Given the description of an element on the screen output the (x, y) to click on. 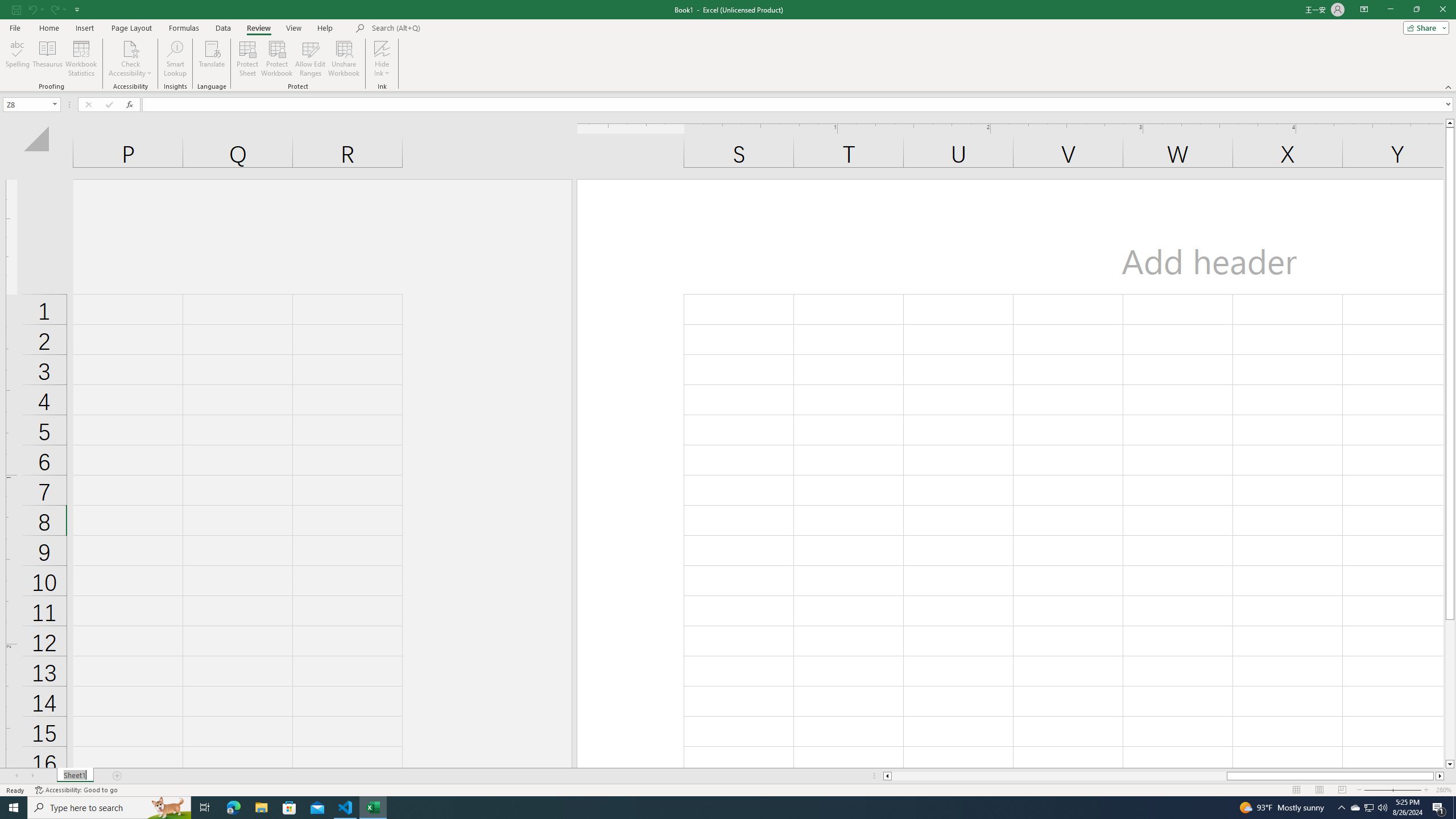
Scroll Right (32, 775)
Class: NetUIScrollBar (1163, 775)
Help (325, 28)
Thesaurus... (47, 58)
Hide Ink (381, 58)
Workbook Statistics (81, 58)
Formulas (184, 28)
Protect Sheet... (247, 58)
Sheet1 (74, 775)
Page left (1059, 775)
Review (258, 28)
Smart Lookup (175, 58)
Page down (1449, 689)
Home (48, 28)
